Given the description of an element on the screen output the (x, y) to click on. 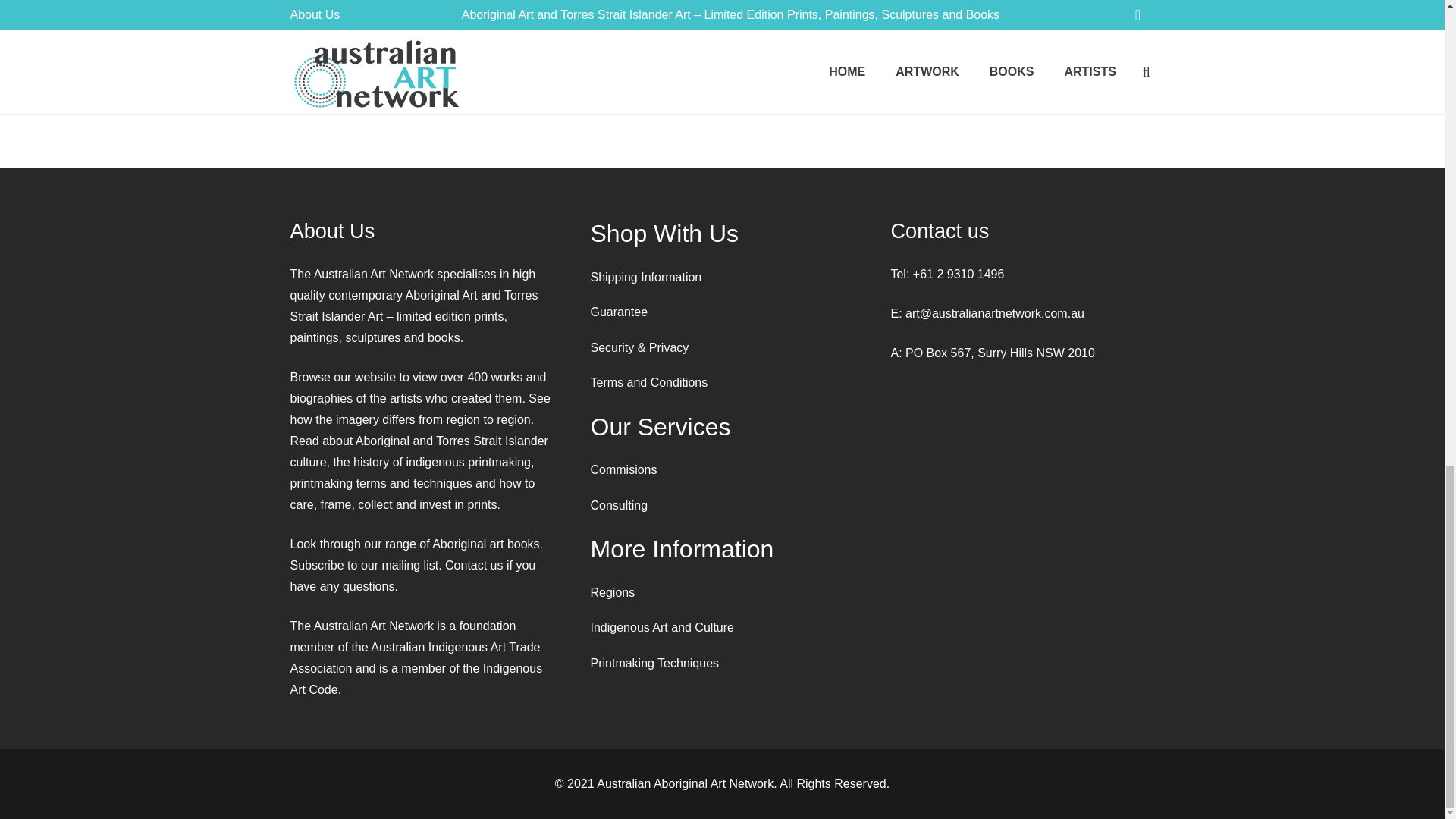
Indigenous Art and Culture (661, 626)
Terms and Conditions (648, 382)
Add to cart (768, 67)
Add to cart (363, 50)
Commisions (622, 469)
Shipping Information (645, 277)
Consulting (618, 504)
Add to cart (566, 7)
Regions (611, 592)
Guarantee (618, 311)
